Given the description of an element on the screen output the (x, y) to click on. 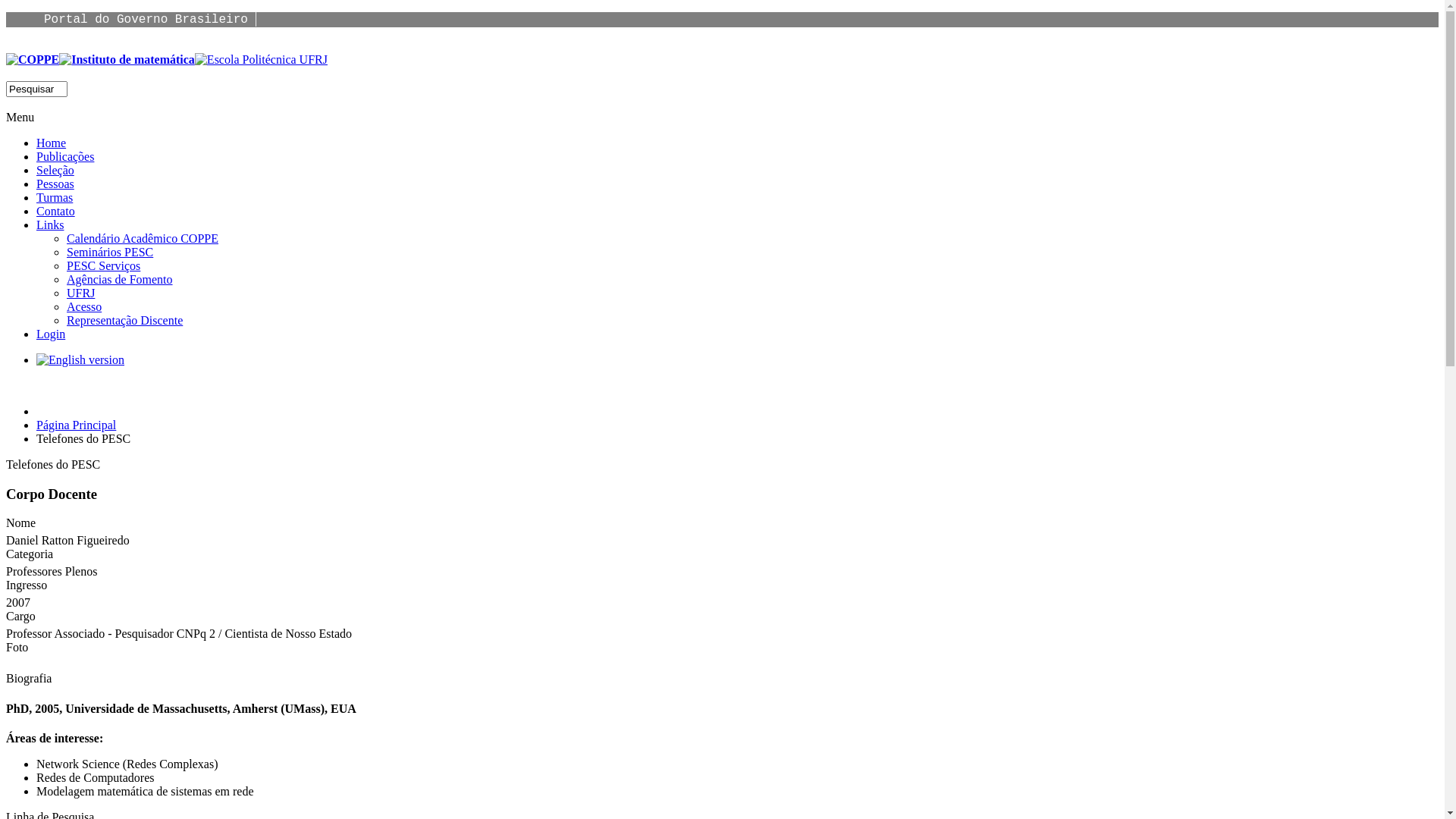
Login Element type: text (50, 333)
COPPE Element type: hover (32, 59)
Home Element type: text (50, 142)
Turmas Element type: text (54, 197)
Pessoas Element type: text (55, 183)
Acesso Element type: text (83, 306)
English version Element type: hover (80, 360)
Links Element type: text (49, 224)
Contato Element type: text (55, 210)
UFRJ Element type: text (80, 292)
Portal do Governo Brasileiro Element type: text (145, 19)
